Given the description of an element on the screen output the (x, y) to click on. 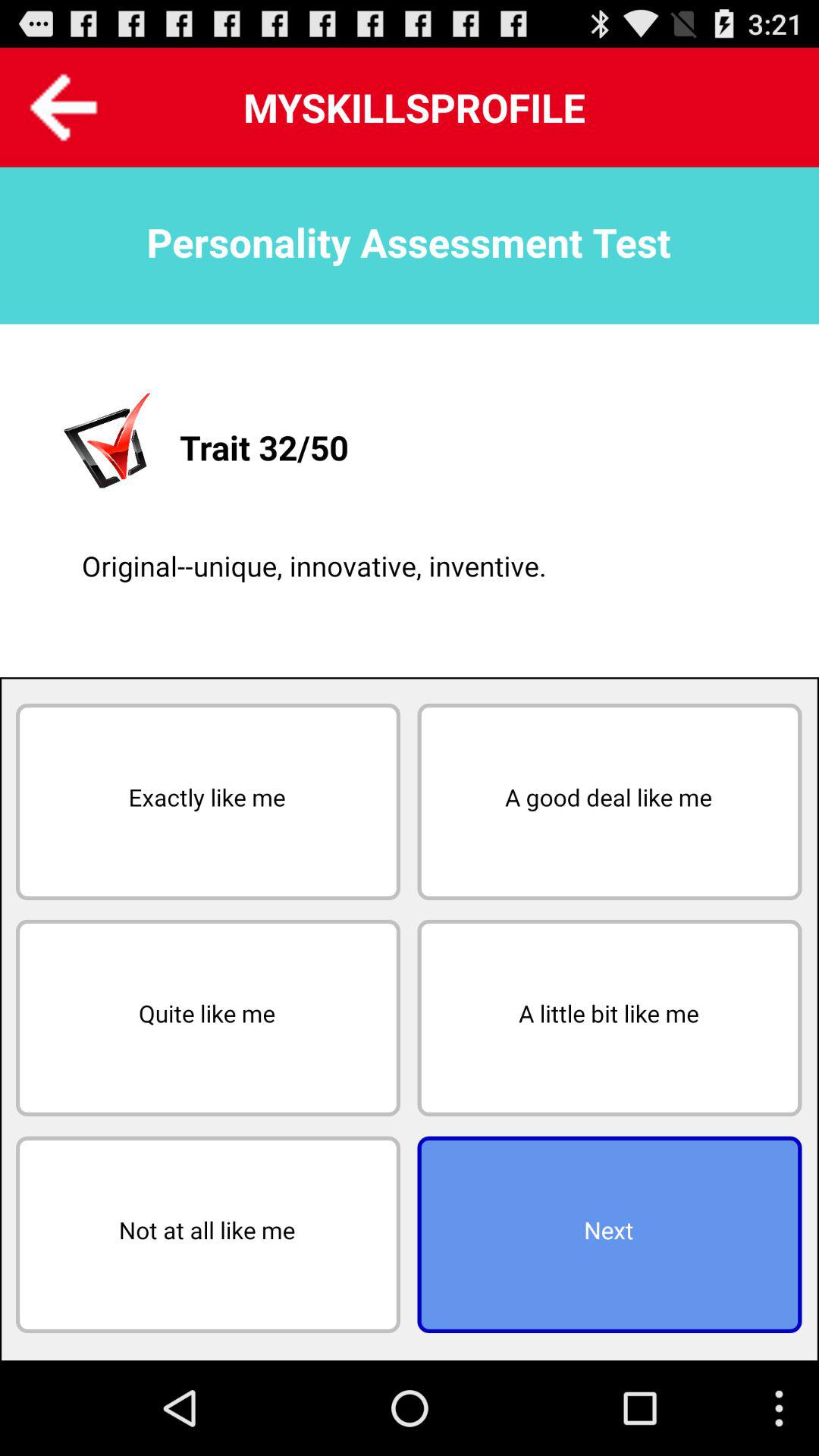
click the icon below the original unique innovative item (609, 801)
